Given the description of an element on the screen output the (x, y) to click on. 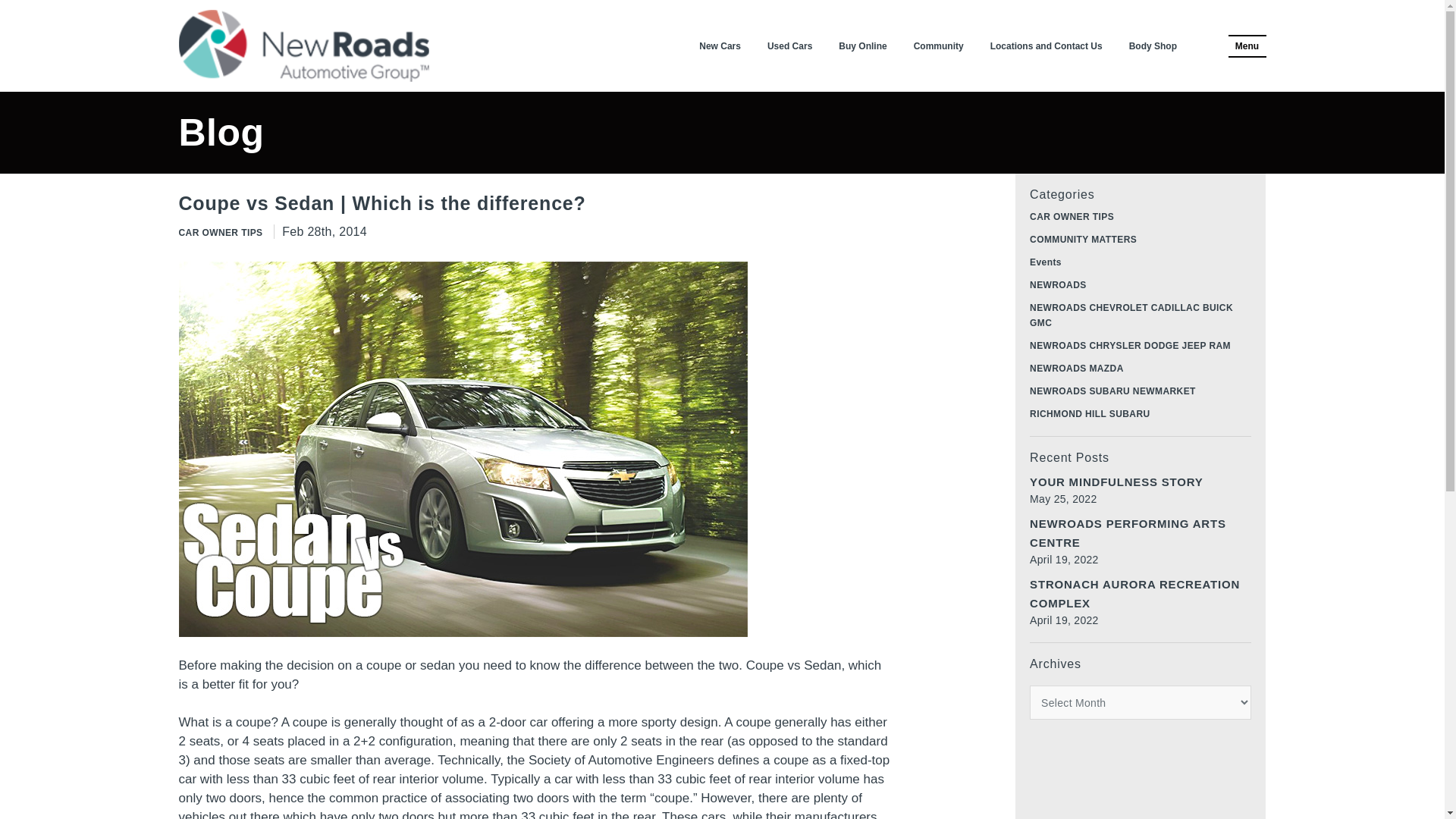
Community (939, 46)
Locations and Contact Us (1046, 46)
Buy Online (861, 46)
Body Shop (1152, 46)
New Cars (719, 46)
Used Cars (788, 46)
